Given the description of an element on the screen output the (x, y) to click on. 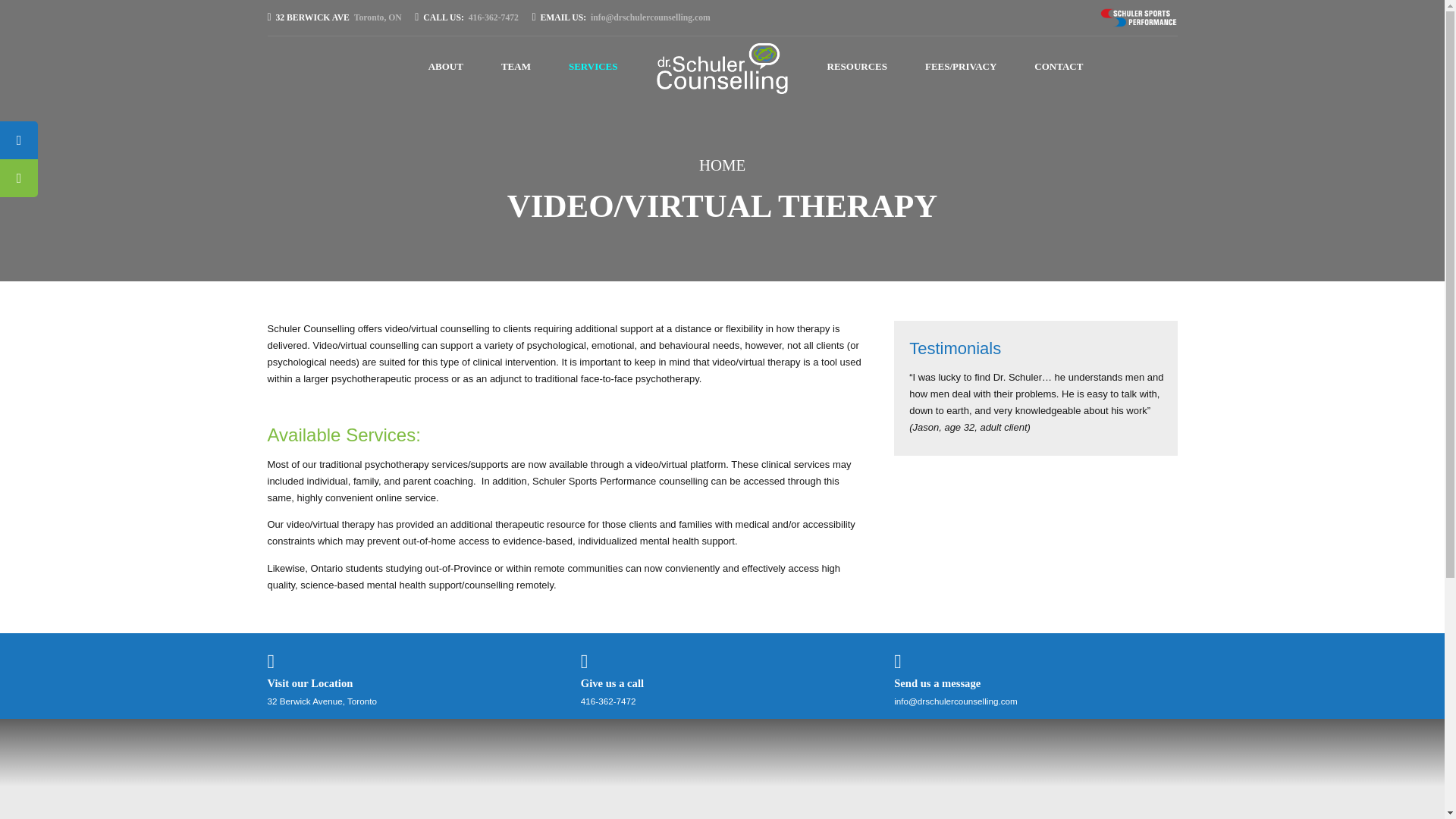
HOME (721, 164)
32 Berwick Avenue, Toronto (468, 16)
RESOURCES (320, 700)
